Given the description of an element on the screen output the (x, y) to click on. 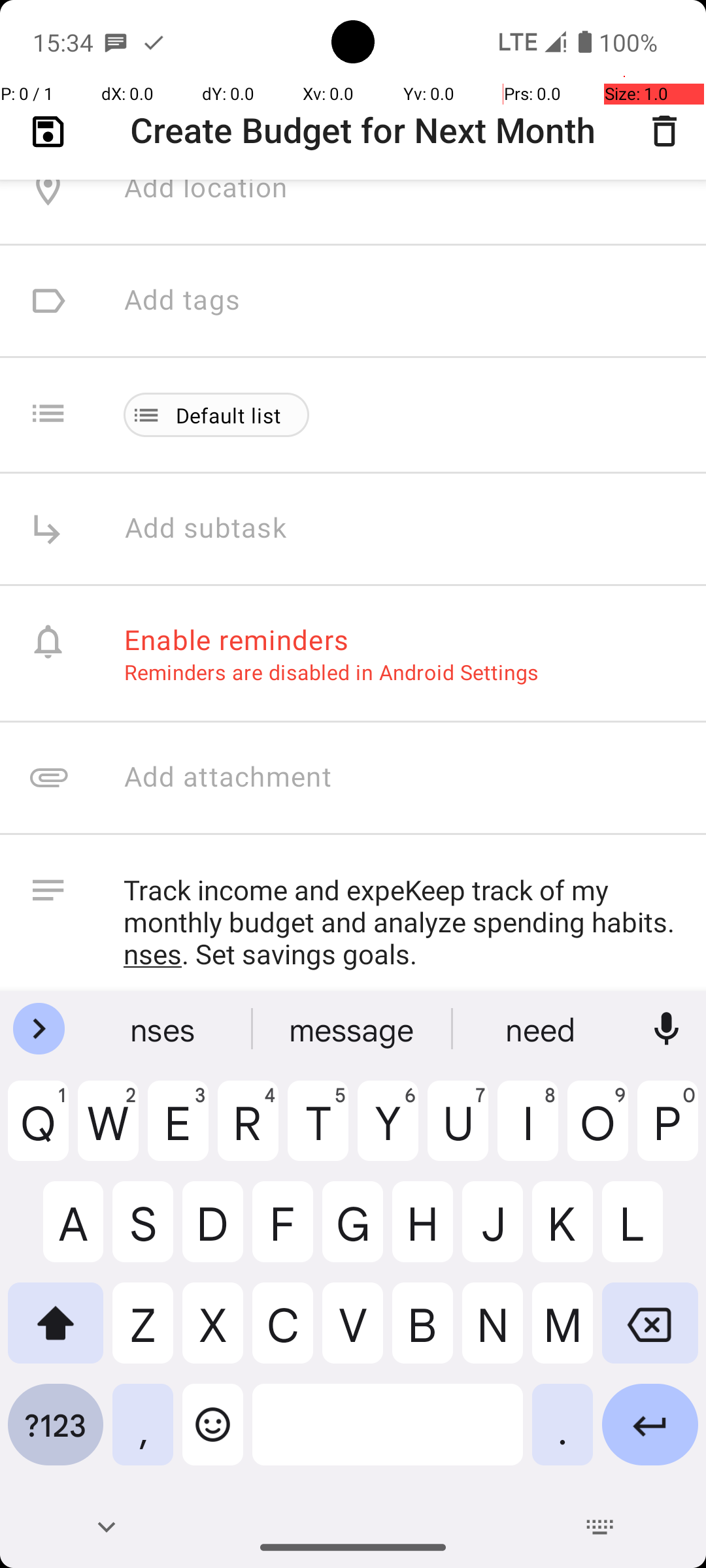
Track income and expeKeep track of my monthly budget and analyze spending habits.
nses. Set savings goals. Element type: android.widget.EditText (400, 922)
nses Element type: android.widget.FrameLayout (163, 1028)
message Element type: android.widget.FrameLayout (352, 1028)
need Element type: android.widget.FrameLayout (541, 1028)
